Given the description of an element on the screen output the (x, y) to click on. 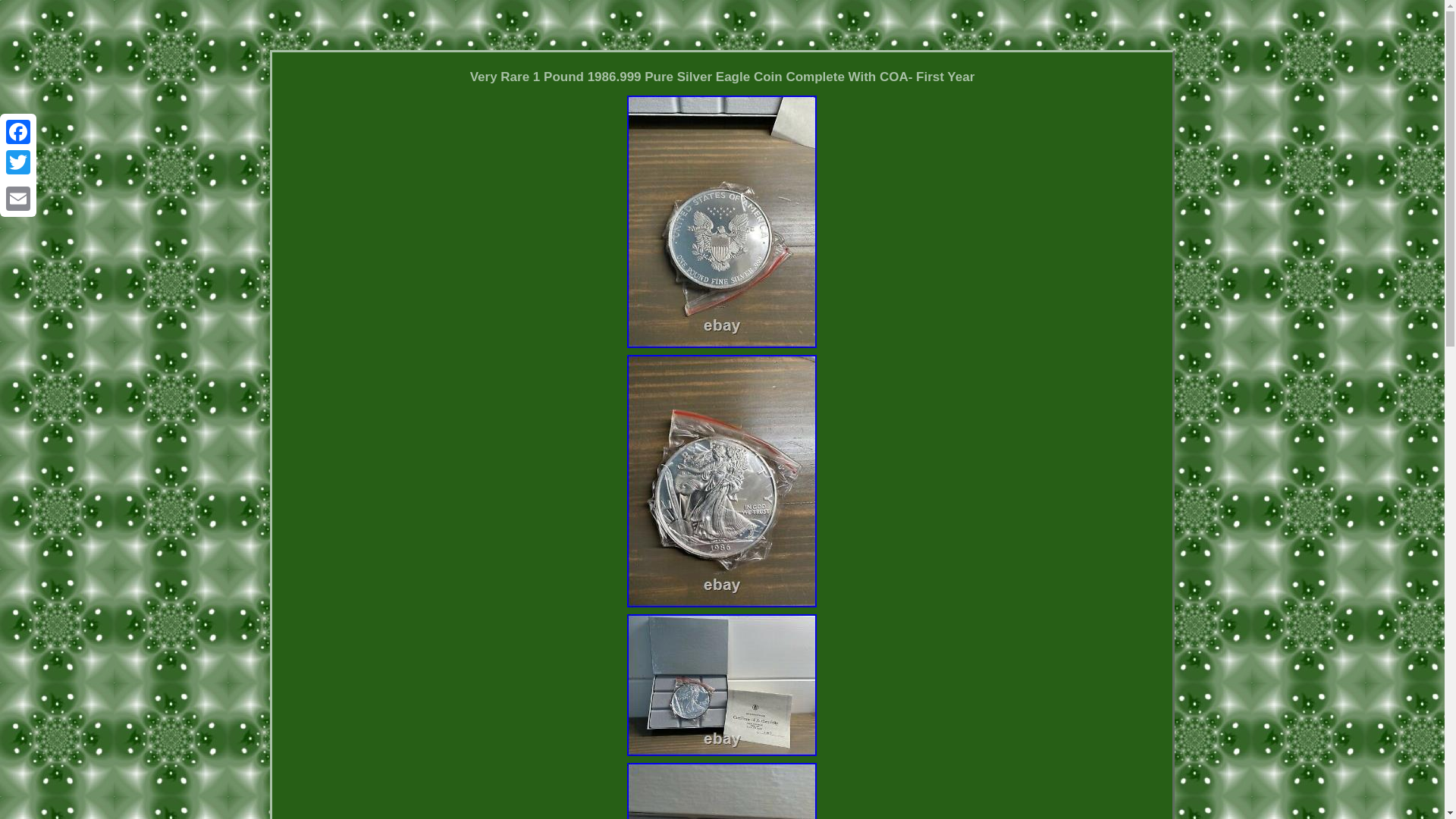
Twitter (17, 162)
Email (17, 198)
Facebook (17, 132)
